Given the description of an element on the screen output the (x, y) to click on. 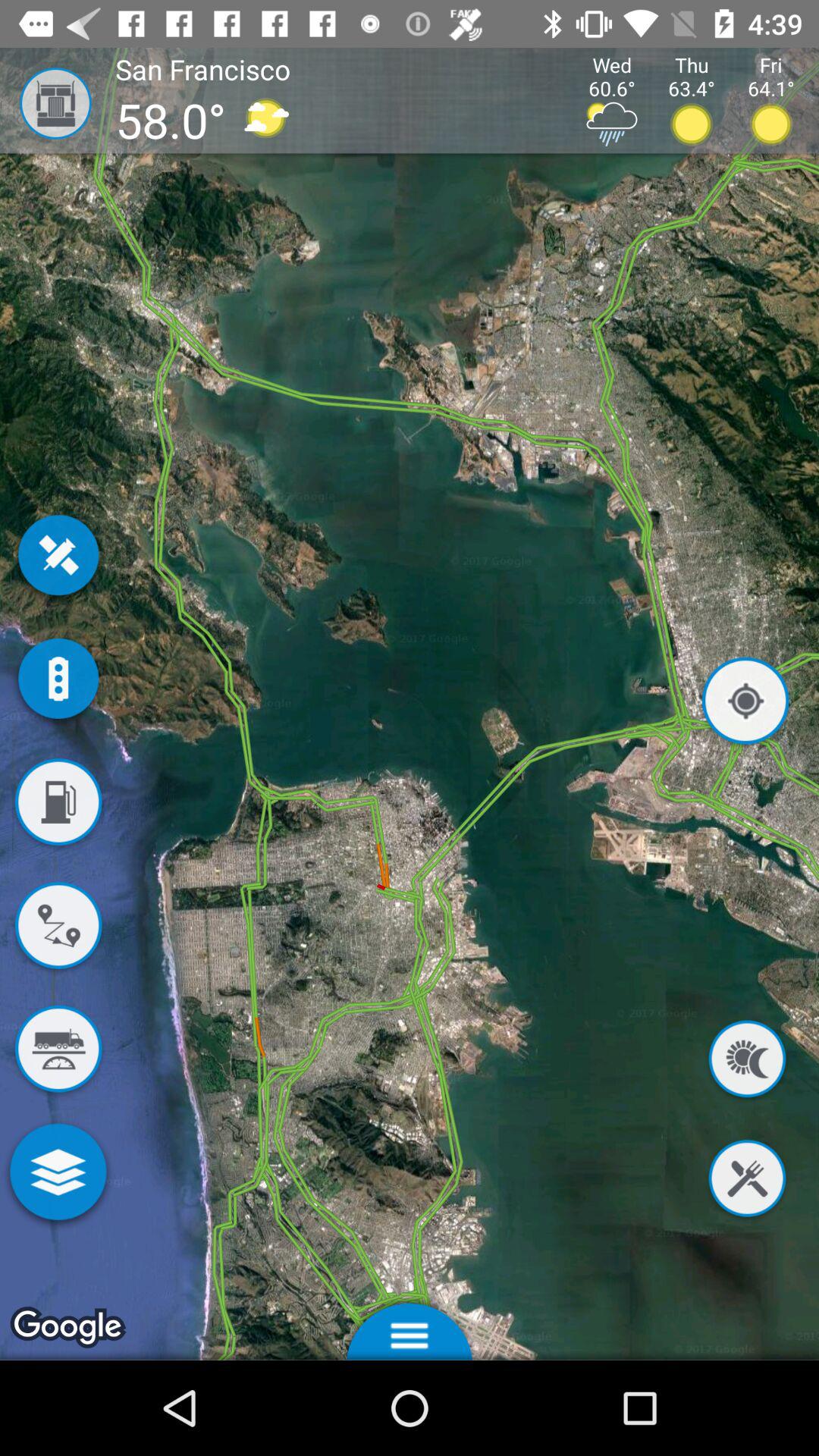
get directions to destination (57, 928)
